Given the description of an element on the screen output the (x, y) to click on. 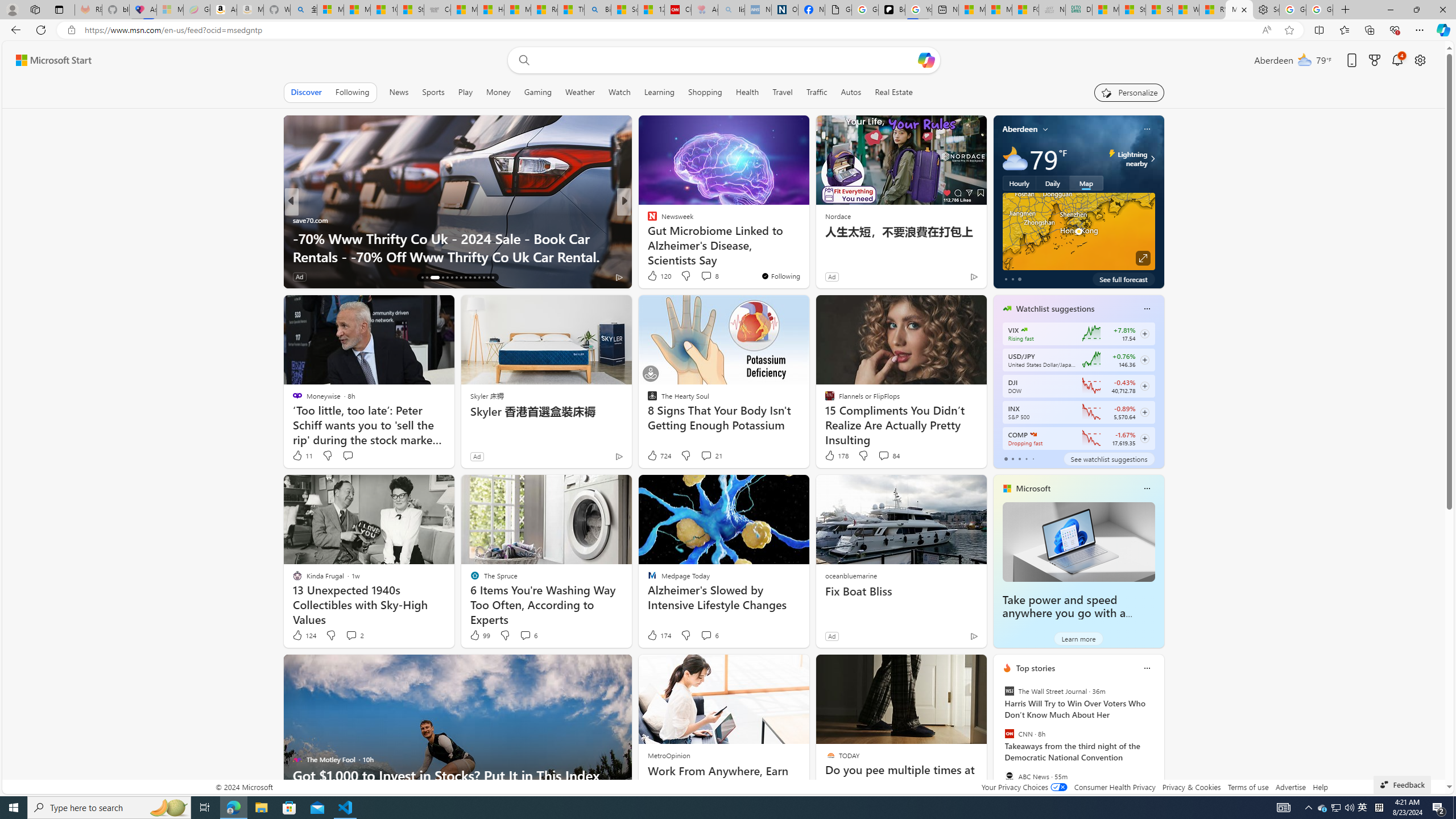
120 Like (658, 275)
Aberdeen (1019, 128)
AutomationID: tab-19 (440, 277)
Map (1085, 183)
A Conscious Rethink (647, 219)
